Given the description of an element on the screen output the (x, y) to click on. 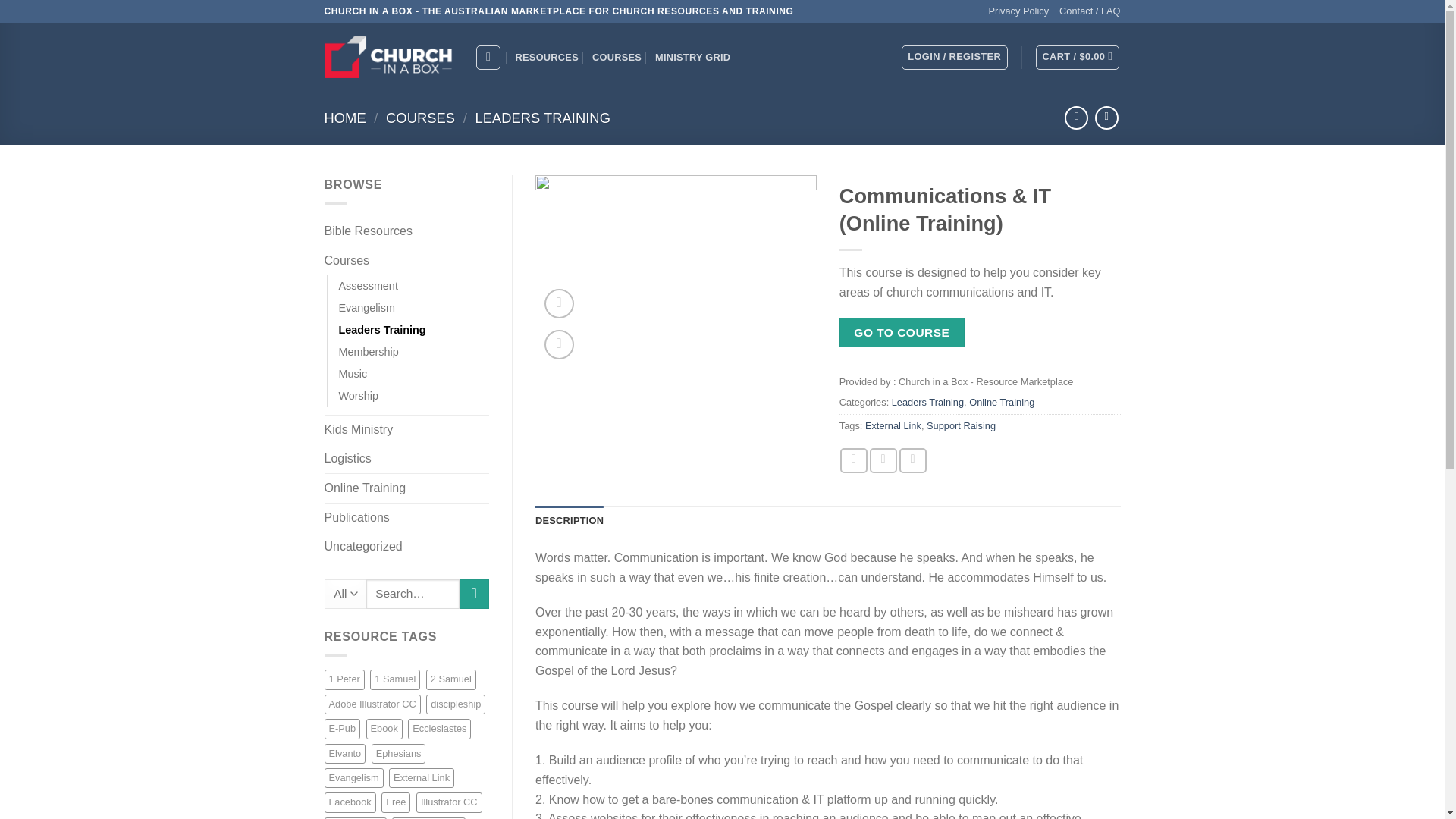
Assessment (367, 286)
RESOURCES (546, 57)
Leaders Training (381, 330)
Cart (1077, 57)
COURSES (419, 117)
Share on Facebook (853, 460)
Online Training (406, 488)
CommunicationsAndIT (675, 270)
Share on Twitter (882, 460)
Evangelism (365, 308)
HOME (345, 117)
Membership (367, 352)
Privacy Policy (1018, 11)
Email to a Friend (912, 460)
LEADERS TRAINING (542, 117)
